Given the description of an element on the screen output the (x, y) to click on. 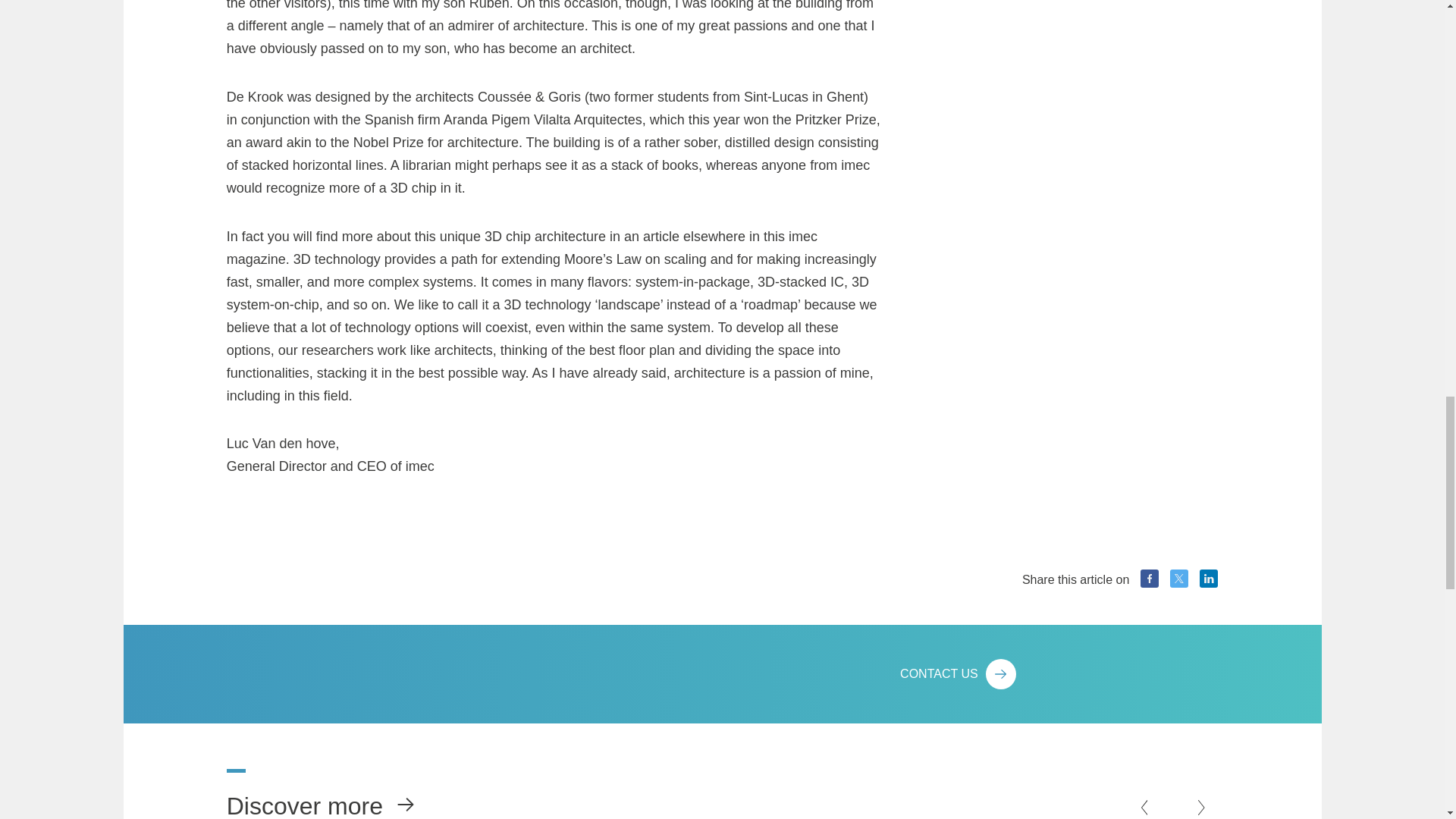
LinkedIn (1208, 578)
Facebook (1149, 578)
Discover more (310, 794)
CONTACT US (1058, 674)
X (1179, 578)
